Given the description of an element on the screen output the (x, y) to click on. 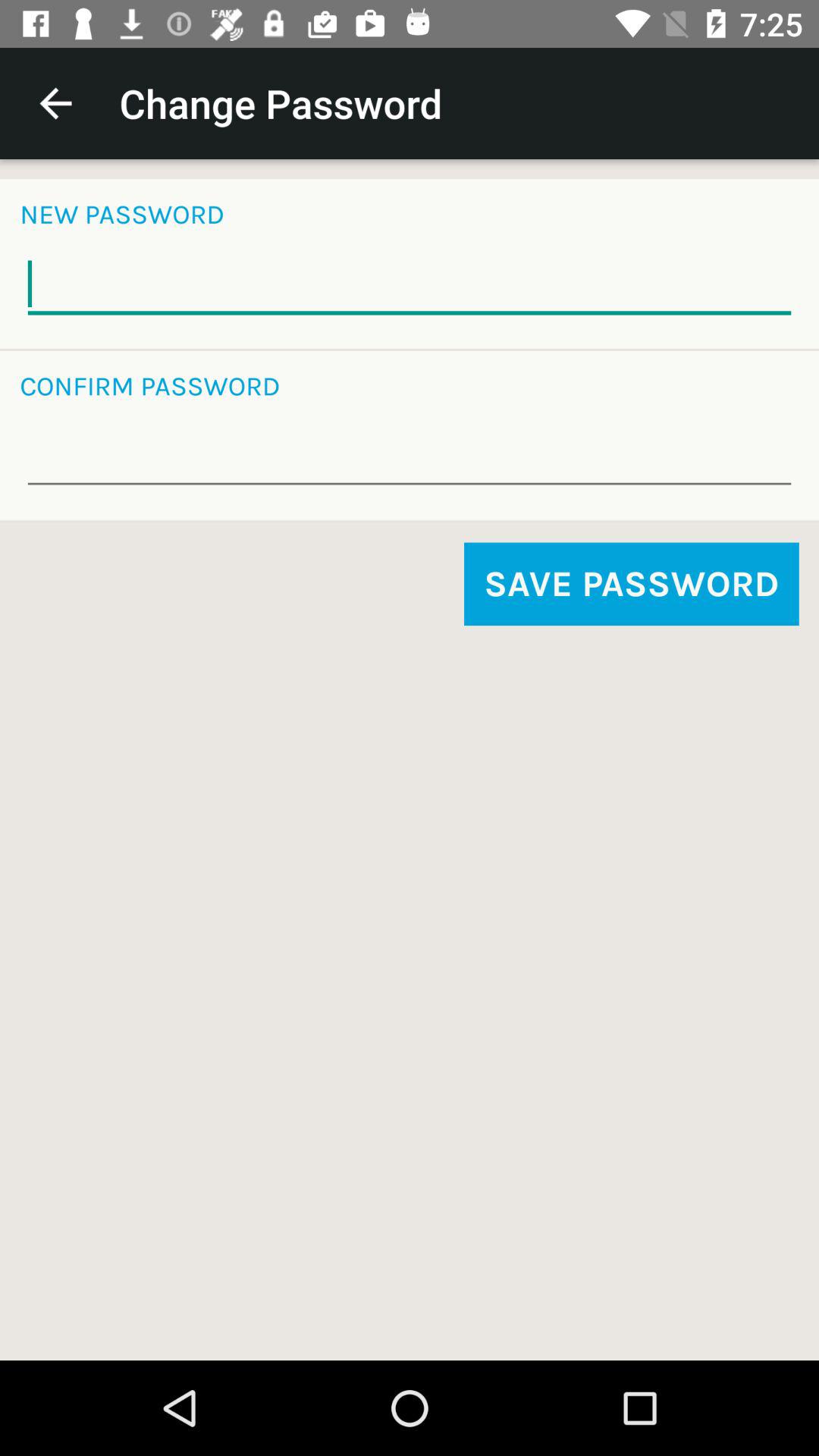
open the app to the left of the change password icon (55, 103)
